Given the description of an element on the screen output the (x, y) to click on. 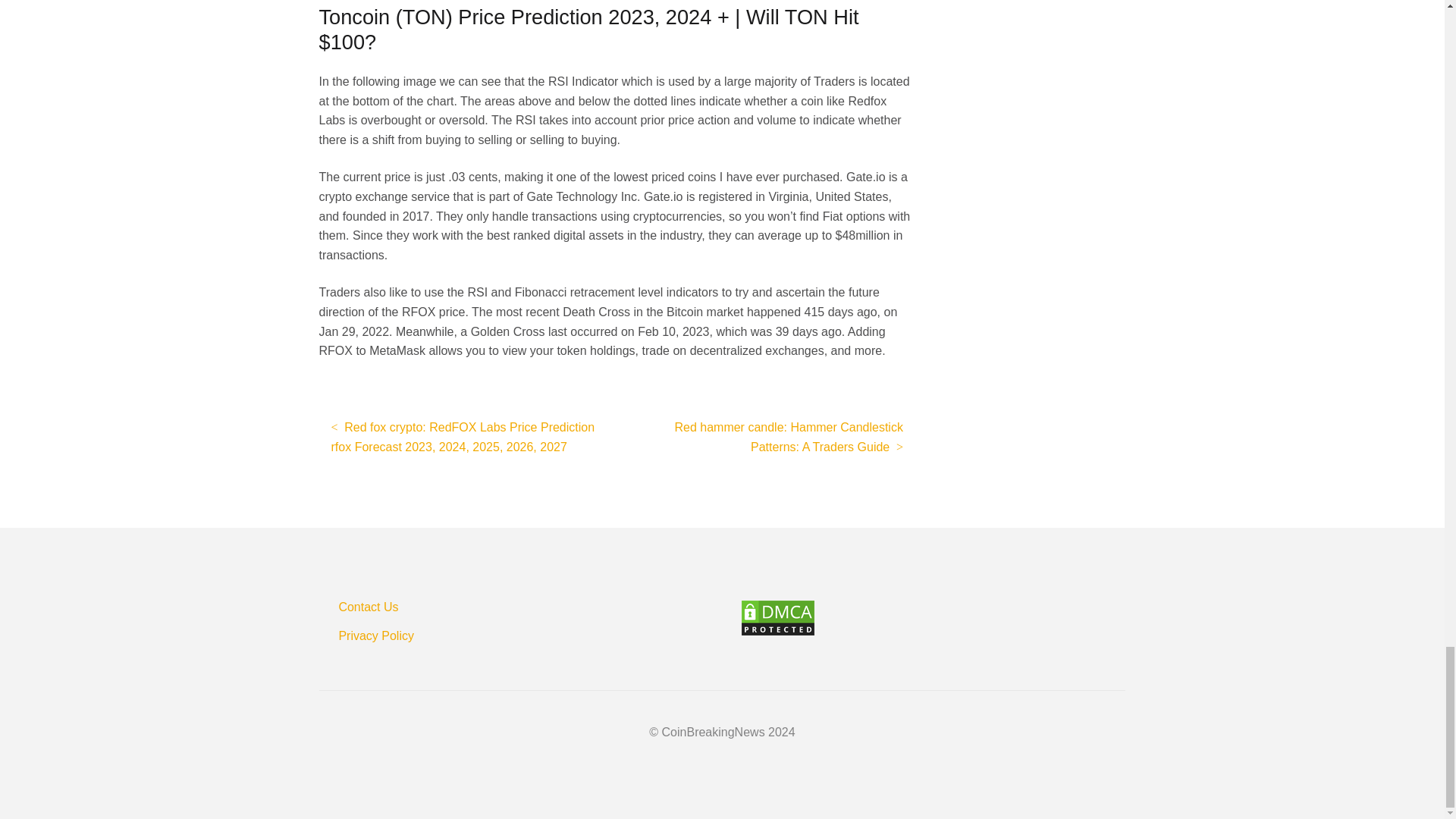
Contact Us (367, 606)
Content Protection by DMCA.com (932, 617)
Privacy Policy (375, 635)
